Given the description of an element on the screen output the (x, y) to click on. 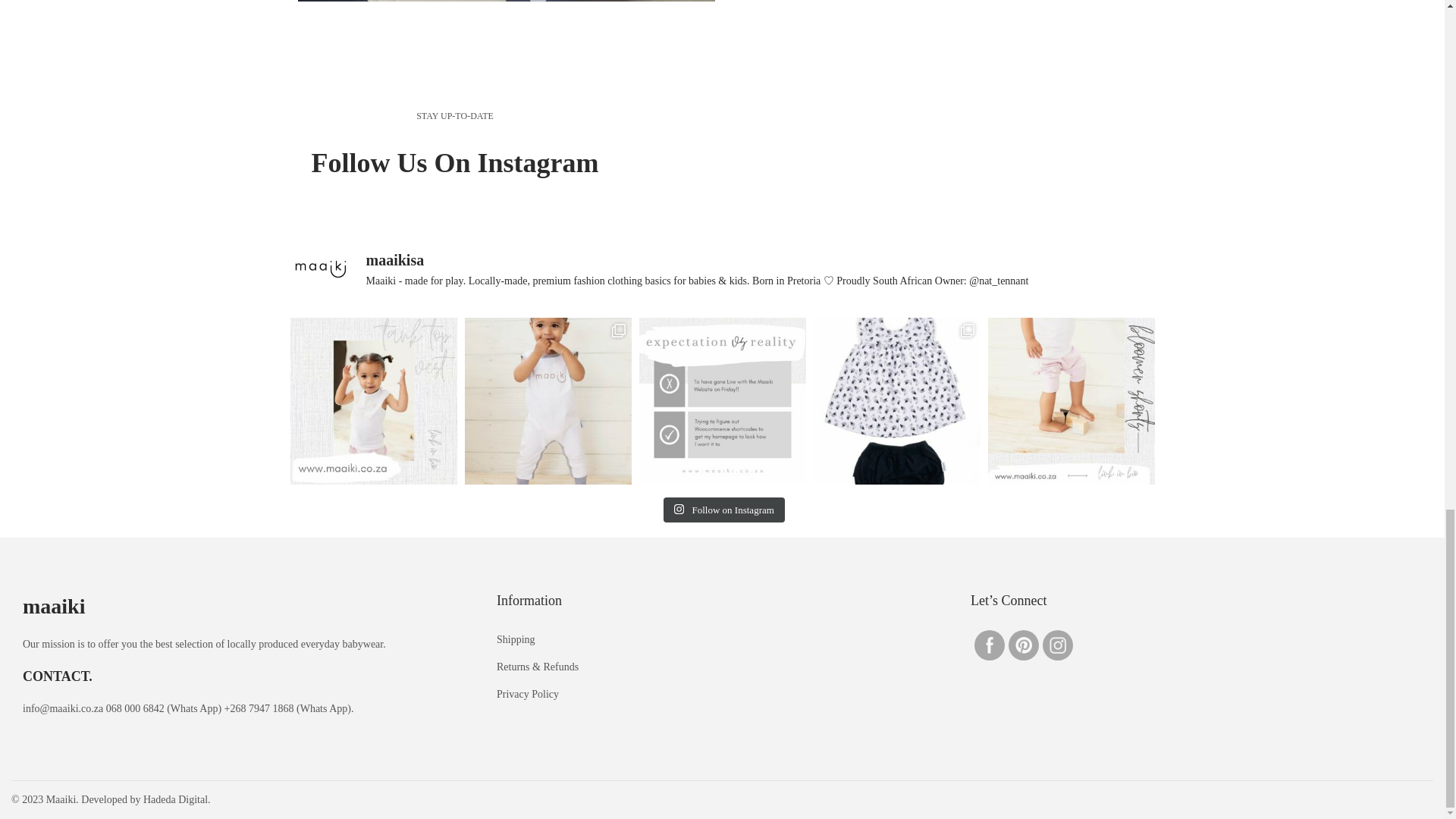
Instagram (1057, 645)
Follow Us On Instagram (454, 163)
Shipping (515, 639)
Pinterest (1023, 645)
Privacy Policy (527, 694)
Facebook (989, 645)
Follow on Instagram (723, 510)
